Given the description of an element on the screen output the (x, y) to click on. 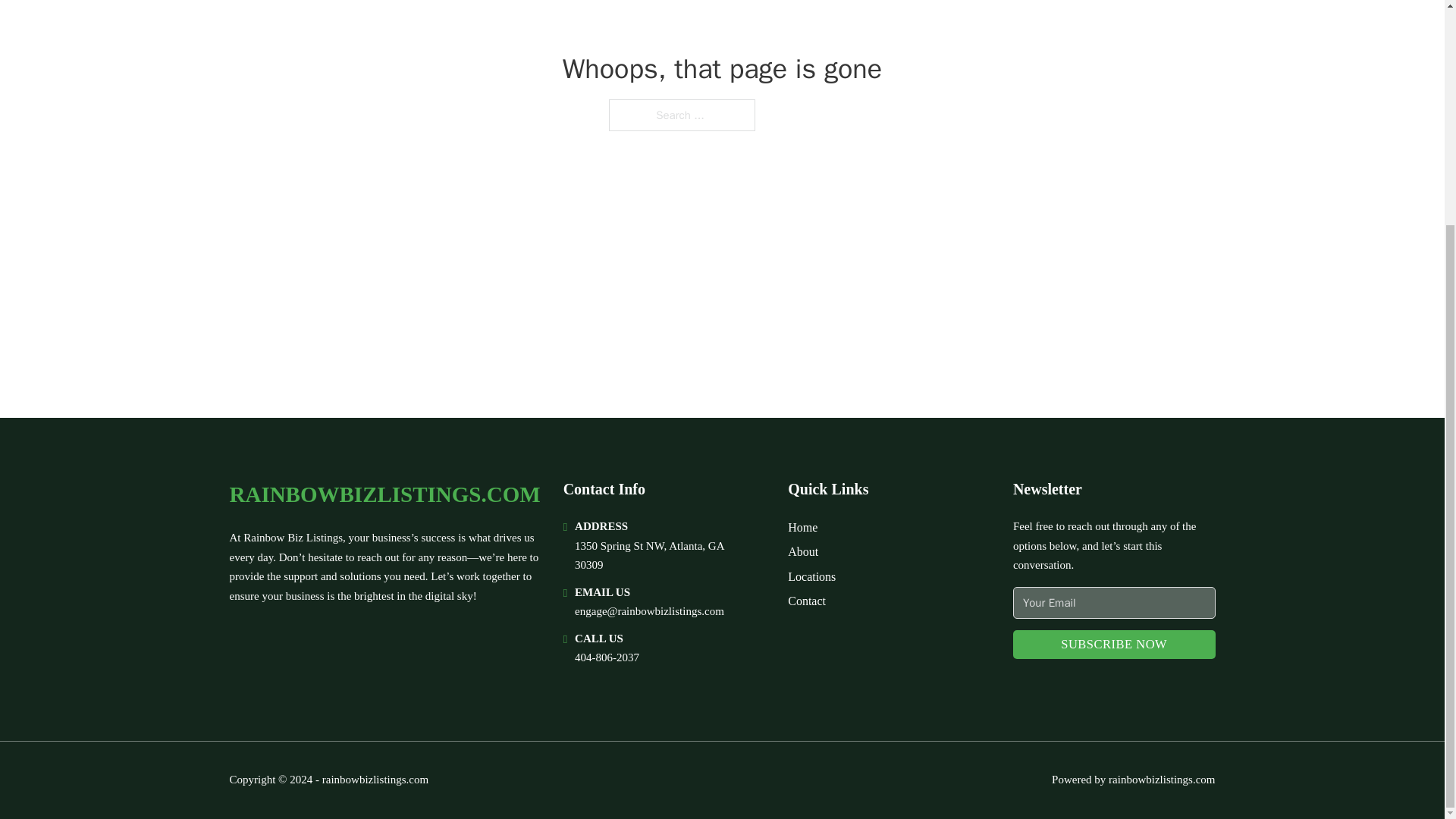
404-806-2037 (607, 657)
RAINBOWBIZLISTINGS.COM (384, 494)
Home (801, 526)
SUBSCRIBE NOW (1114, 644)
About (802, 551)
Contact (806, 600)
Locations (811, 576)
